Given the description of an element on the screen output the (x, y) to click on. 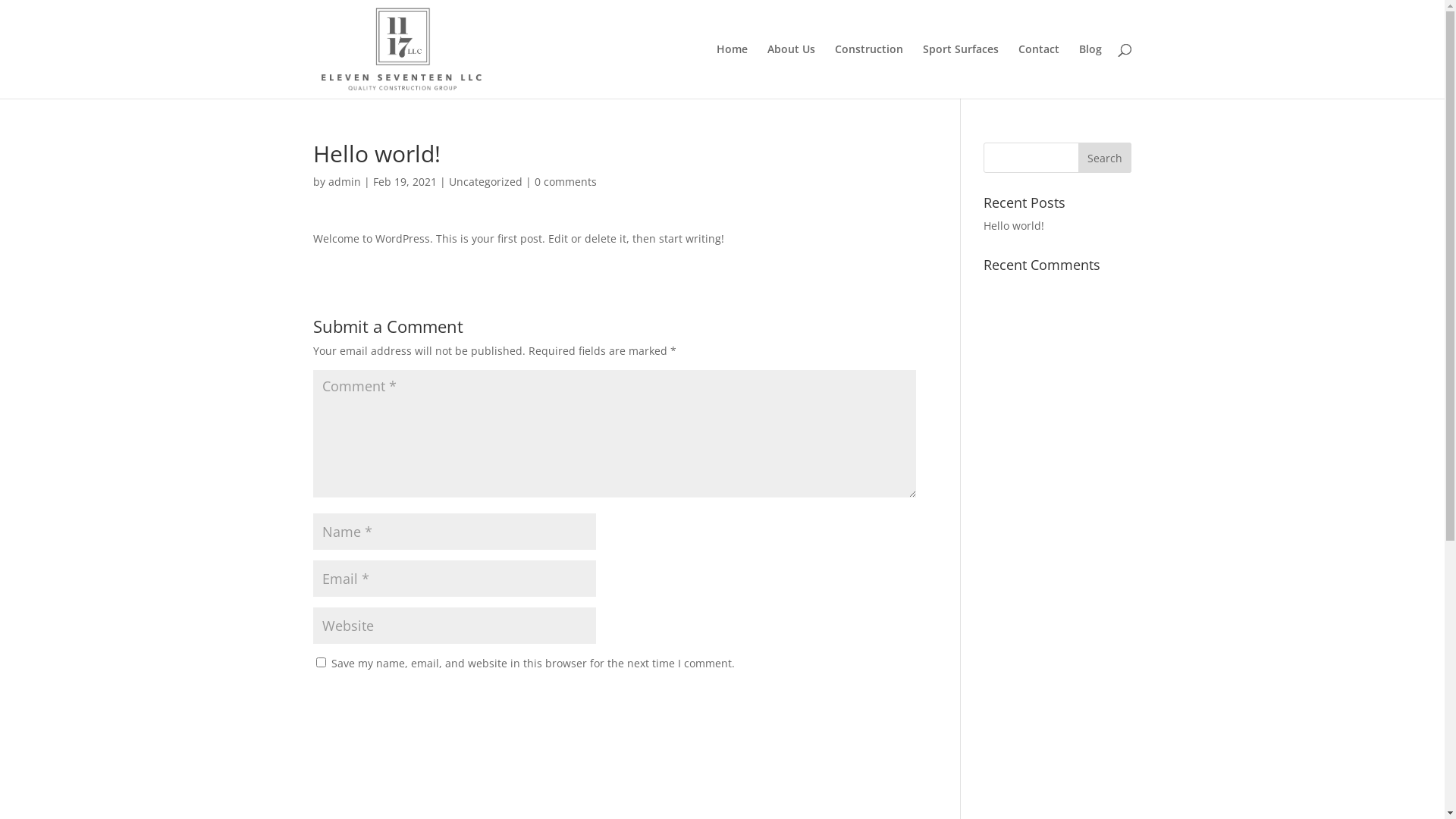
Hello world! Element type: text (1013, 225)
Contact Element type: text (1037, 70)
Home Element type: text (730, 70)
Construction Element type: text (868, 70)
About Us Element type: text (791, 70)
Search Element type: text (1104, 157)
Sport Surfaces Element type: text (959, 70)
0 comments Element type: text (564, 181)
Submit Comment Element type: text (837, 702)
Uncategorized Element type: text (485, 181)
admin Element type: text (343, 181)
Blog Element type: text (1089, 70)
